Given the description of an element on the screen output the (x, y) to click on. 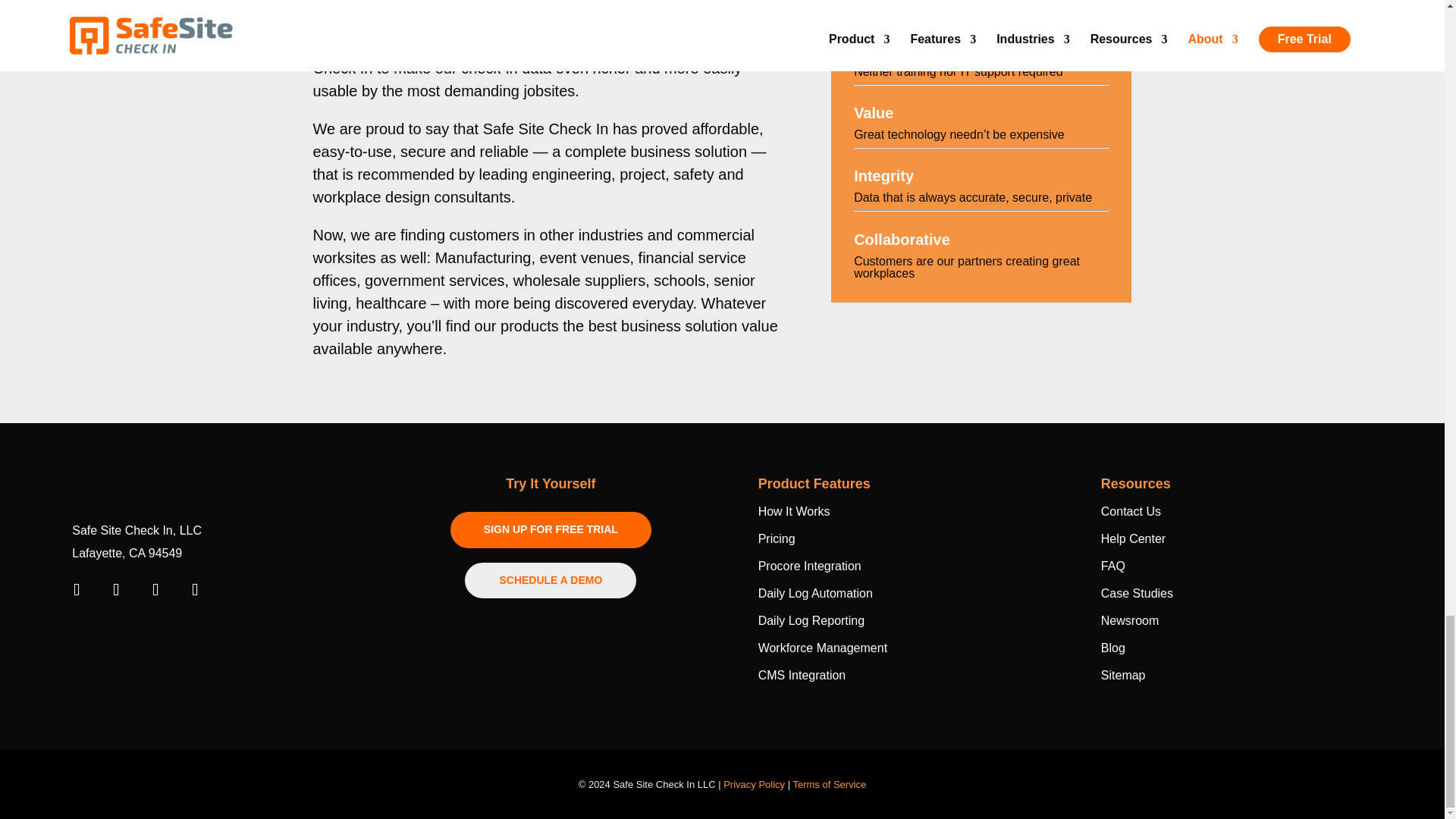
Follow on X (194, 589)
SSCI Made in USA Badge - Small White (119, 633)
Follow on Youtube (154, 589)
Follow on Facebook (76, 589)
Follow on LinkedIn (115, 589)
